Given the description of an element on the screen output the (x, y) to click on. 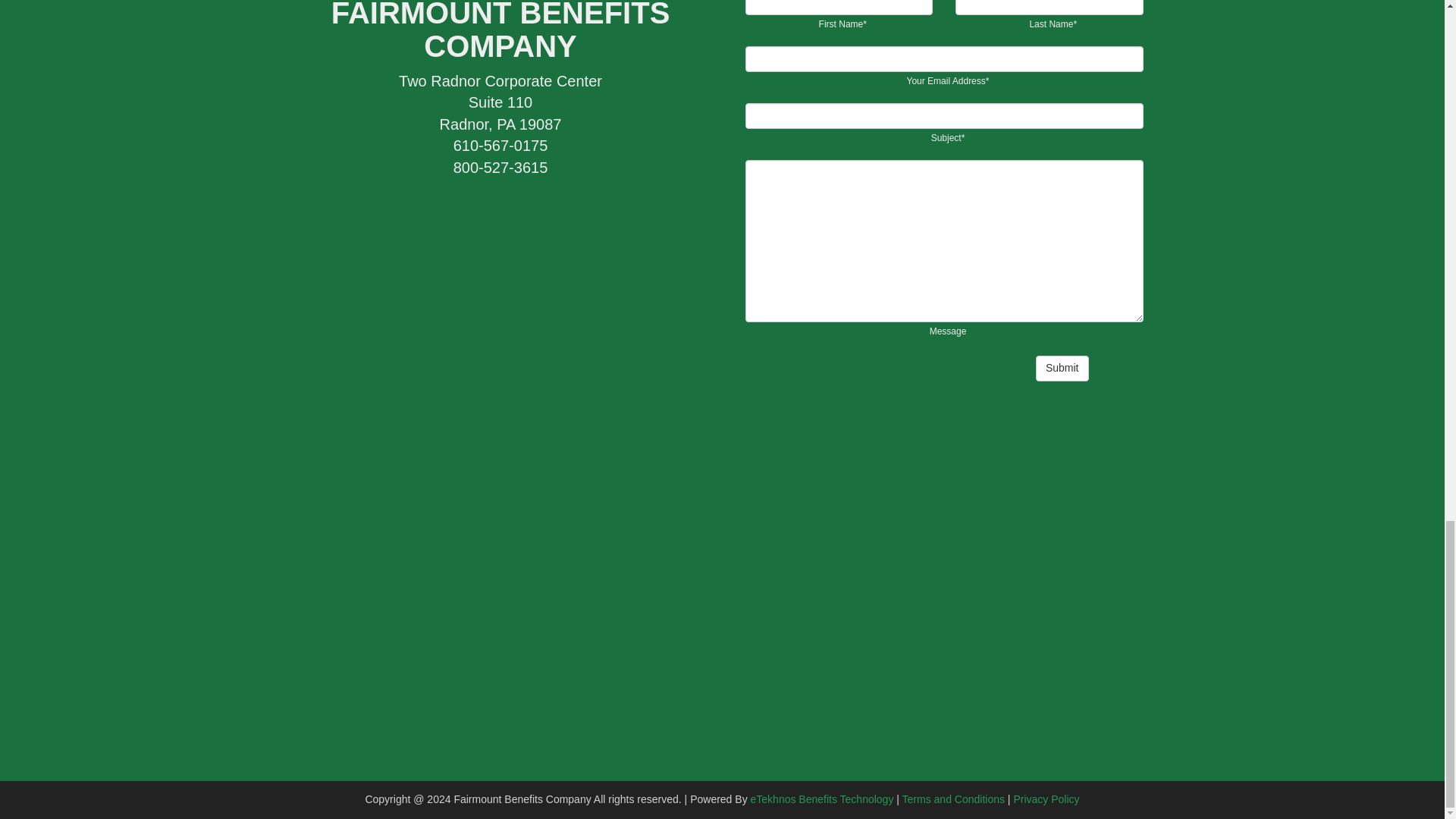
eTekhnos Benefits Technology (822, 799)
Terms and Conditions (953, 799)
Privacy Policy (1045, 799)
Submit (1062, 368)
Submit (1062, 368)
